Given the description of an element on the screen output the (x, y) to click on. 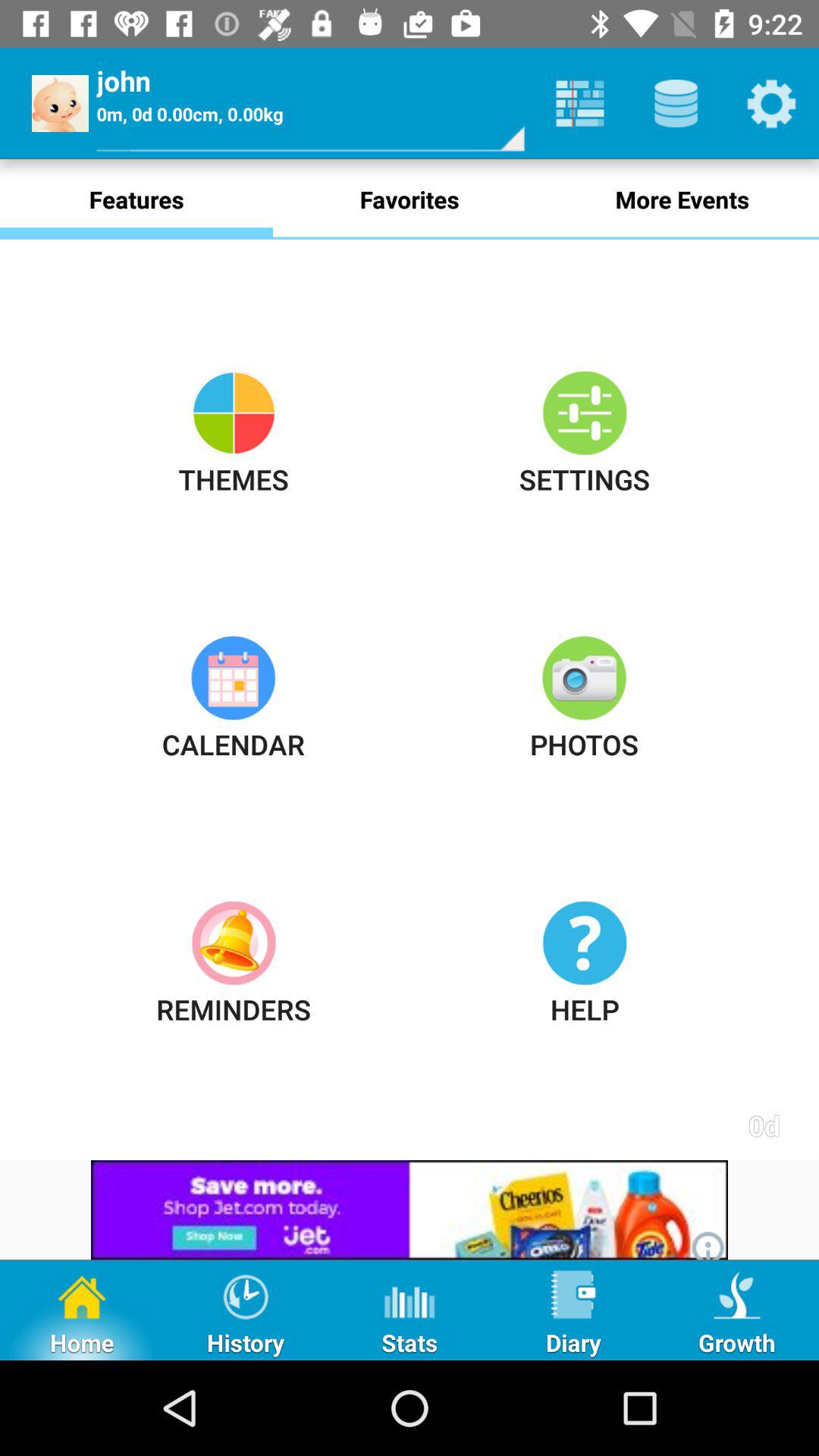
show settings (771, 103)
